Given the description of an element on the screen output the (x, y) to click on. 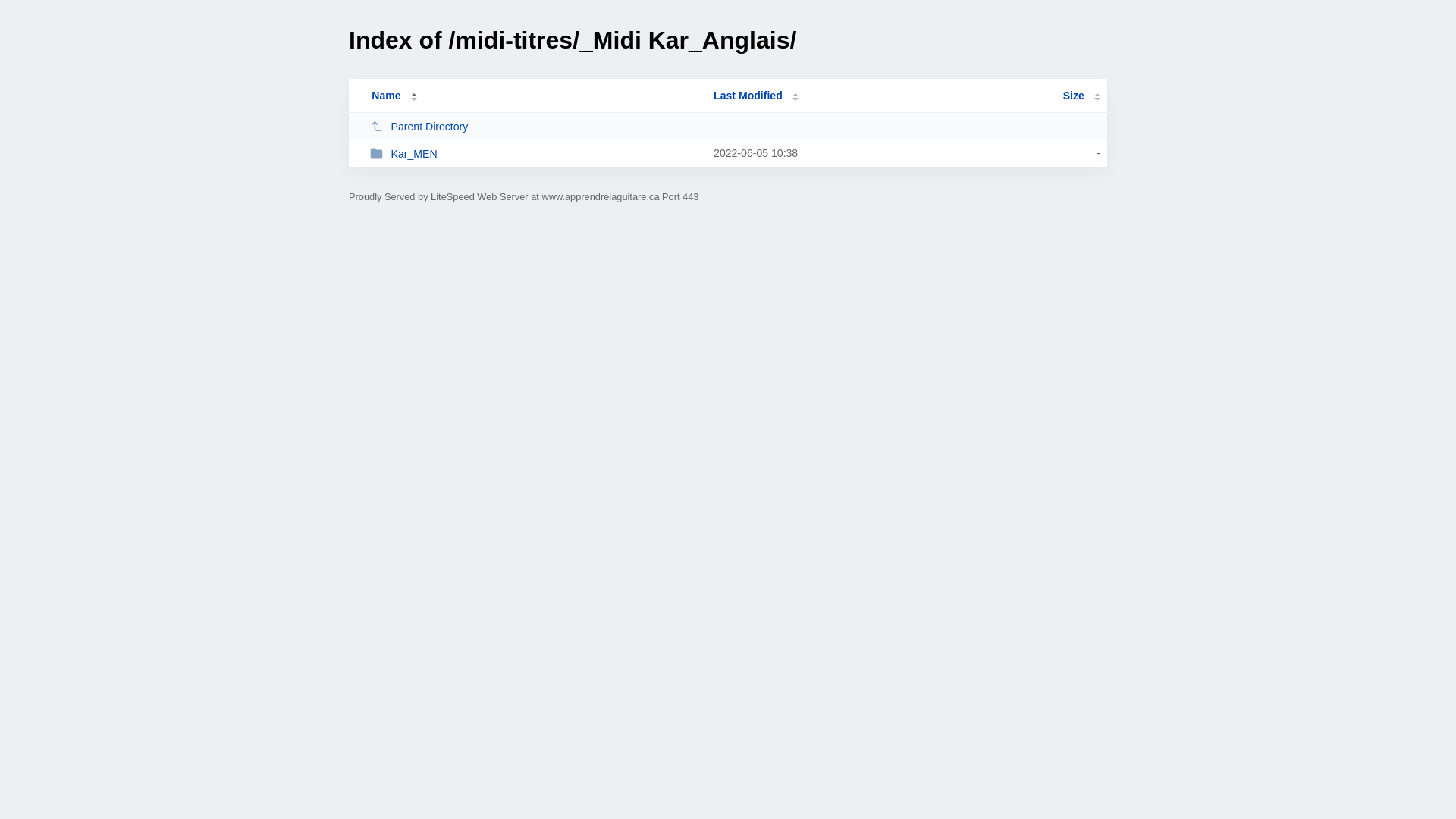
Name Element type: text (385, 95)
Last Modified Element type: text (755, 95)
Kar_MEN Element type: text (534, 153)
Size Element type: text (1081, 95)
Parent Directory Element type: text (534, 125)
